Given the description of an element on the screen output the (x, y) to click on. 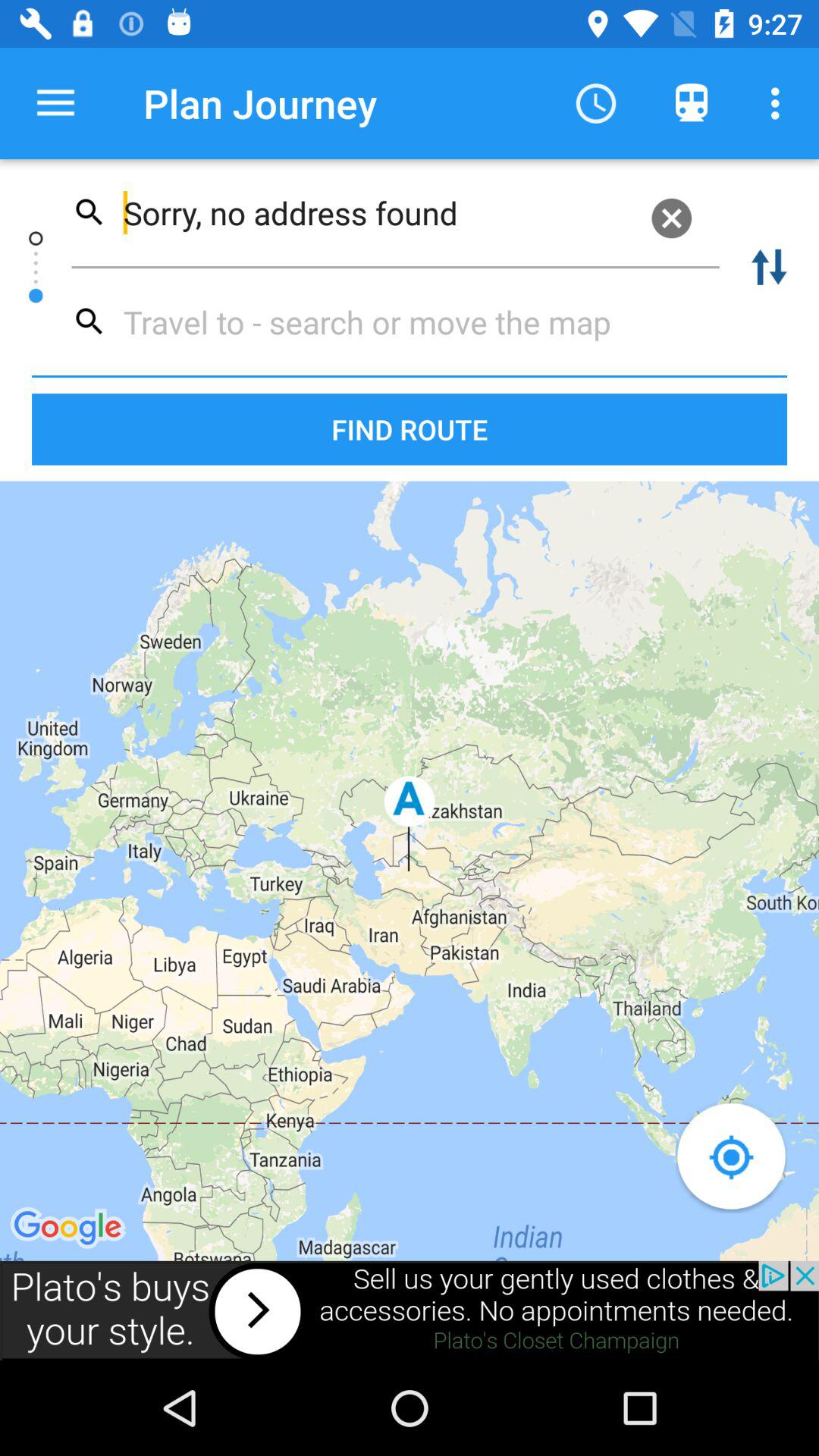
swap to/from (769, 266)
